Given the description of an element on the screen output the (x, y) to click on. 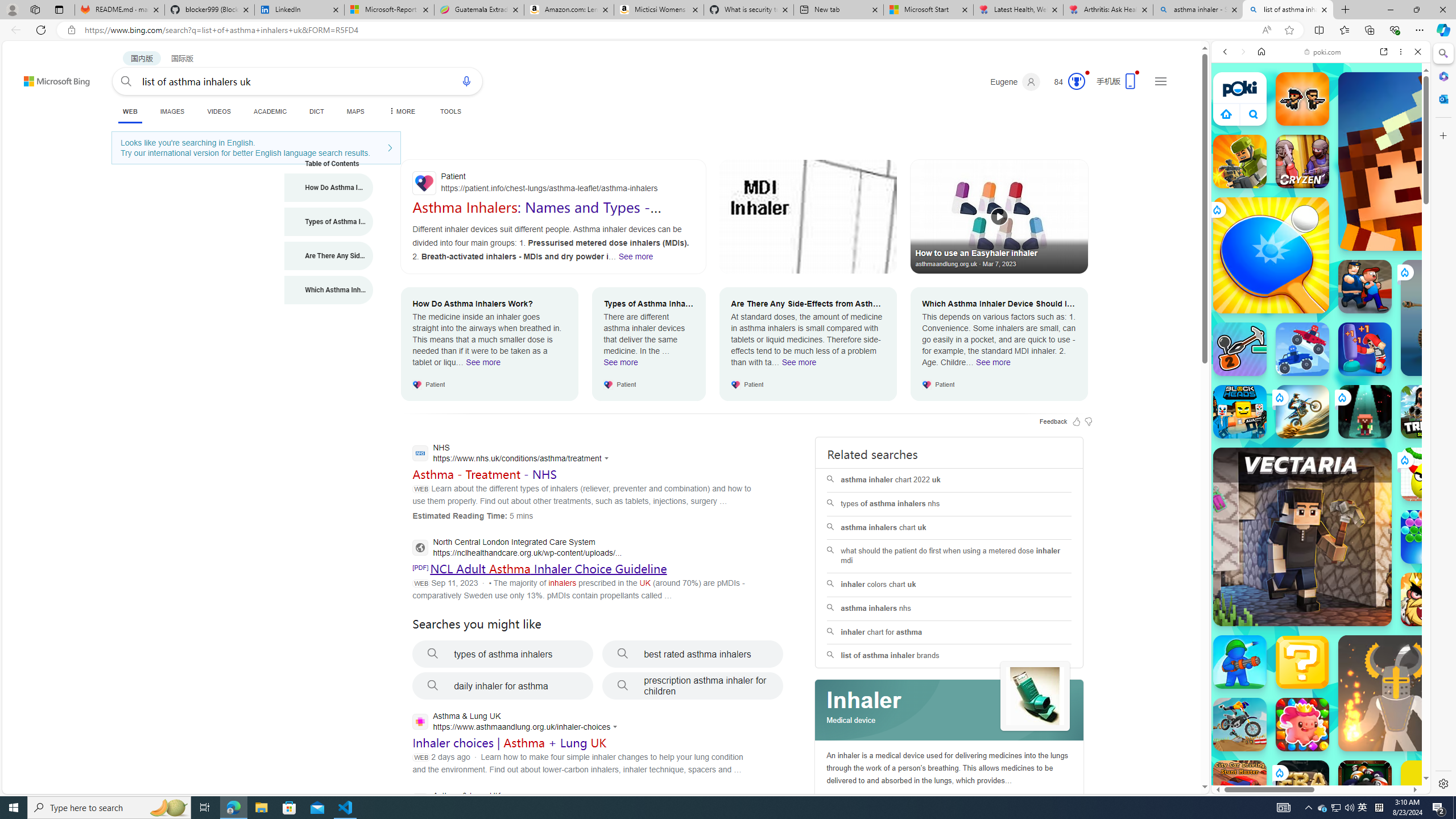
Zombie Rush Zombie Rush (1302, 98)
ACADEMIC (269, 111)
Io Games (1320, 350)
Show More Io Games (1390, 351)
Vectaria.io (1301, 536)
Preferences (1403, 129)
types of asthma inhalers nhs (949, 503)
Poki - Free Online Games - Play Now! (1315, 175)
Car Games (1320, 267)
